Given the description of an element on the screen output the (x, y) to click on. 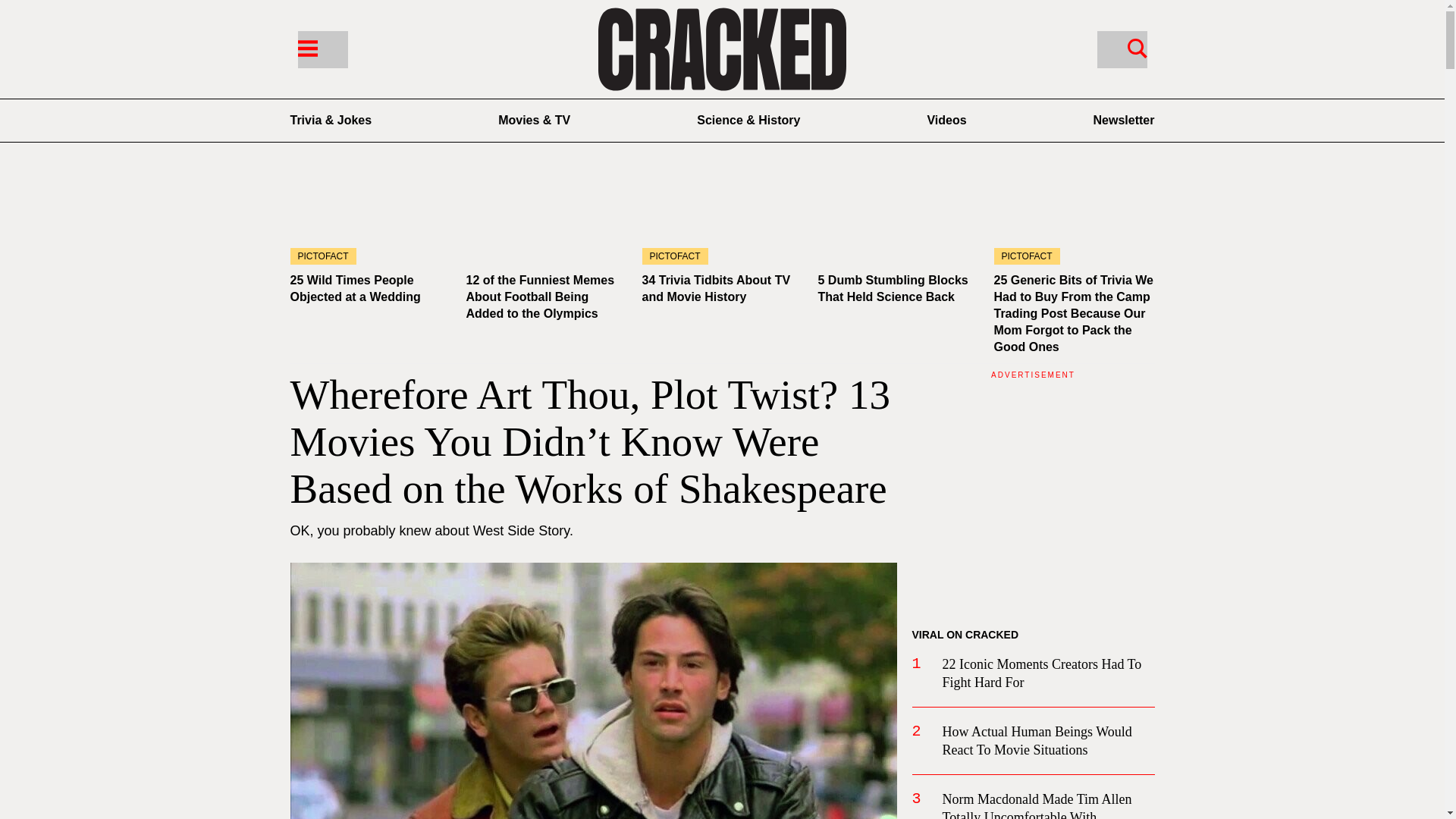
Search (1136, 47)
Search (1121, 48)
34 Trivia Tidbits About TV and Movie History (716, 288)
Menu (322, 48)
5 Dumb Stumbling Blocks That Held Science Back (892, 288)
25 Wild Times People Objected at a Wedding (354, 288)
Menu (307, 47)
Videos (946, 119)
Cracked Newsletter (1123, 119)
PICTOFACT (722, 219)
PICTOFACT (369, 219)
25 Wild Times People Objected at a Wedding (369, 219)
Newsletter (1123, 119)
Videos (946, 119)
